Given the description of an element on the screen output the (x, y) to click on. 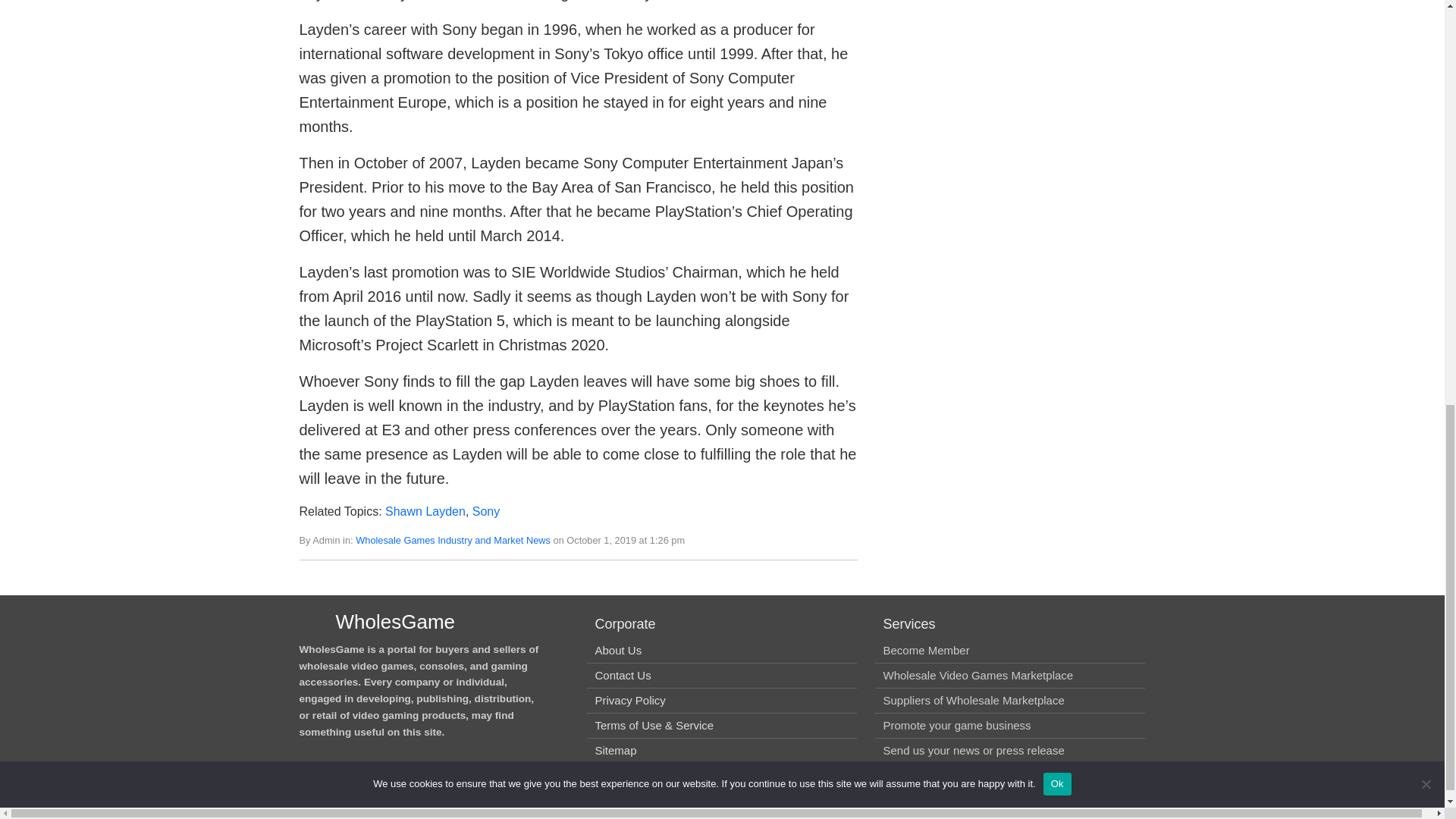
Shawn Layden (425, 511)
About Us (618, 649)
